Given the description of an element on the screen output the (x, y) to click on. 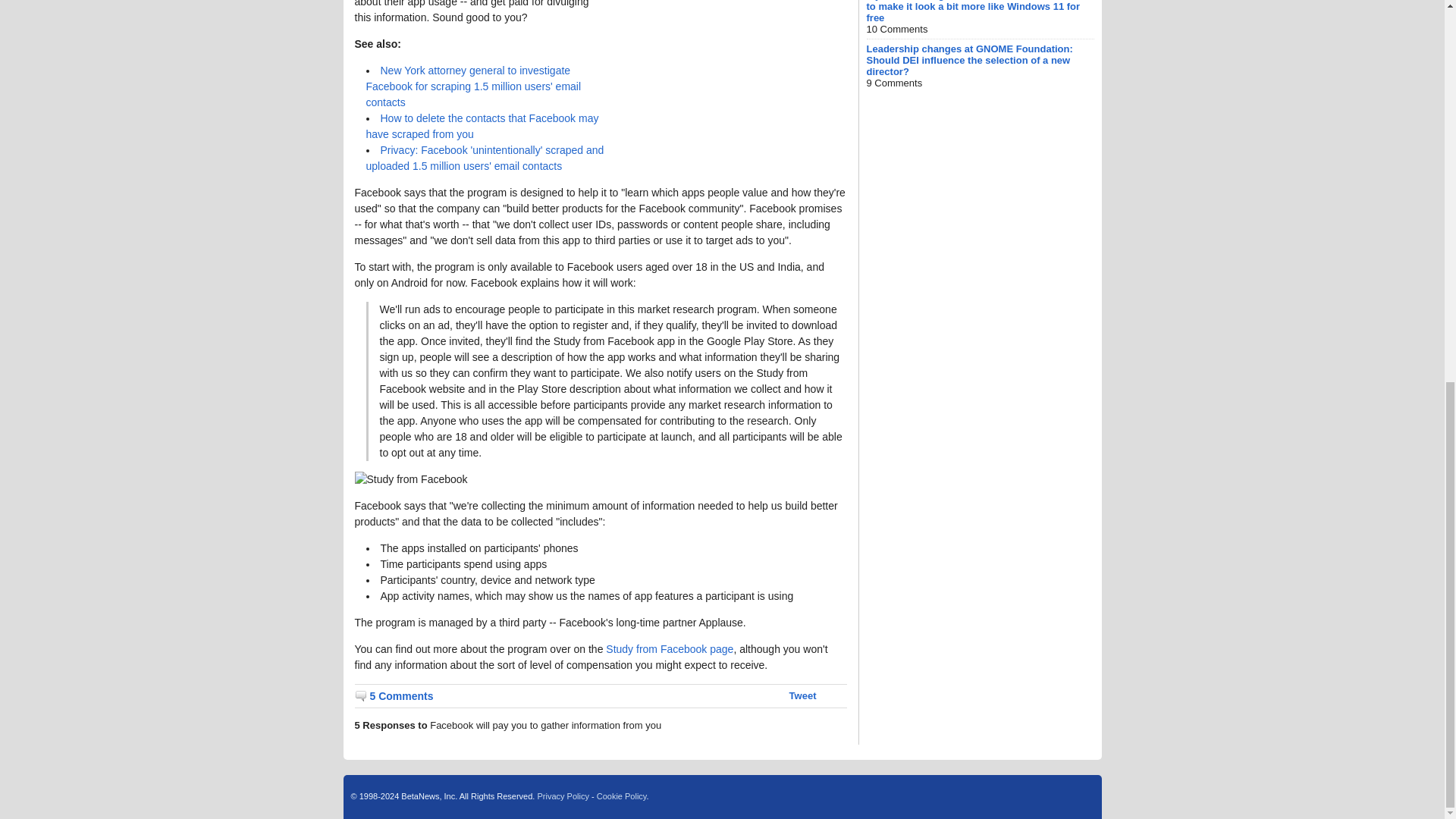
Tweet (802, 695)
Study from Facebook page (669, 648)
5 Comments (394, 695)
